Given the description of an element on the screen output the (x, y) to click on. 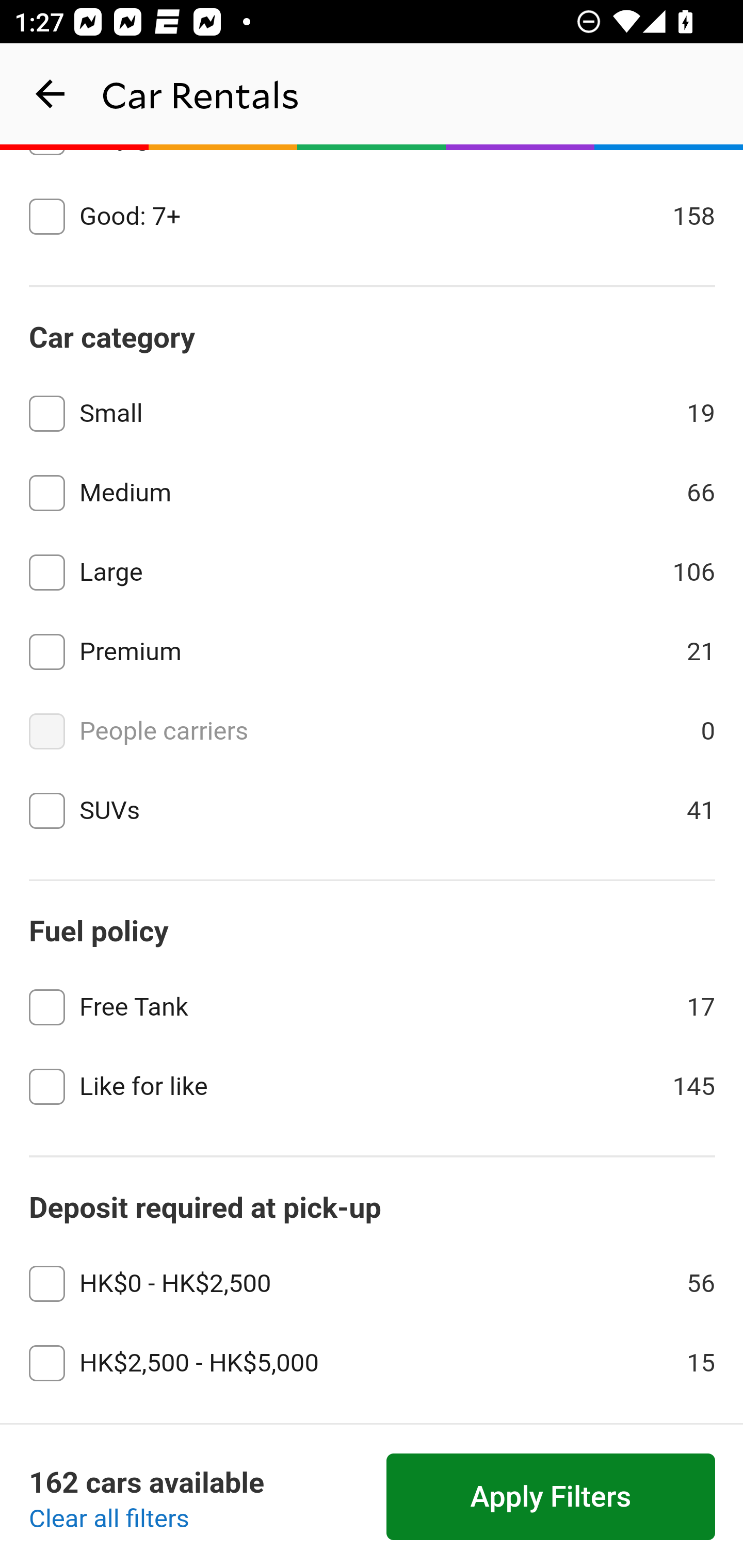
navigation_button (50, 93)
Apply Filters (551, 1497)
Clear all filters (108, 1519)
